Given the description of an element on the screen output the (x, y) to click on. 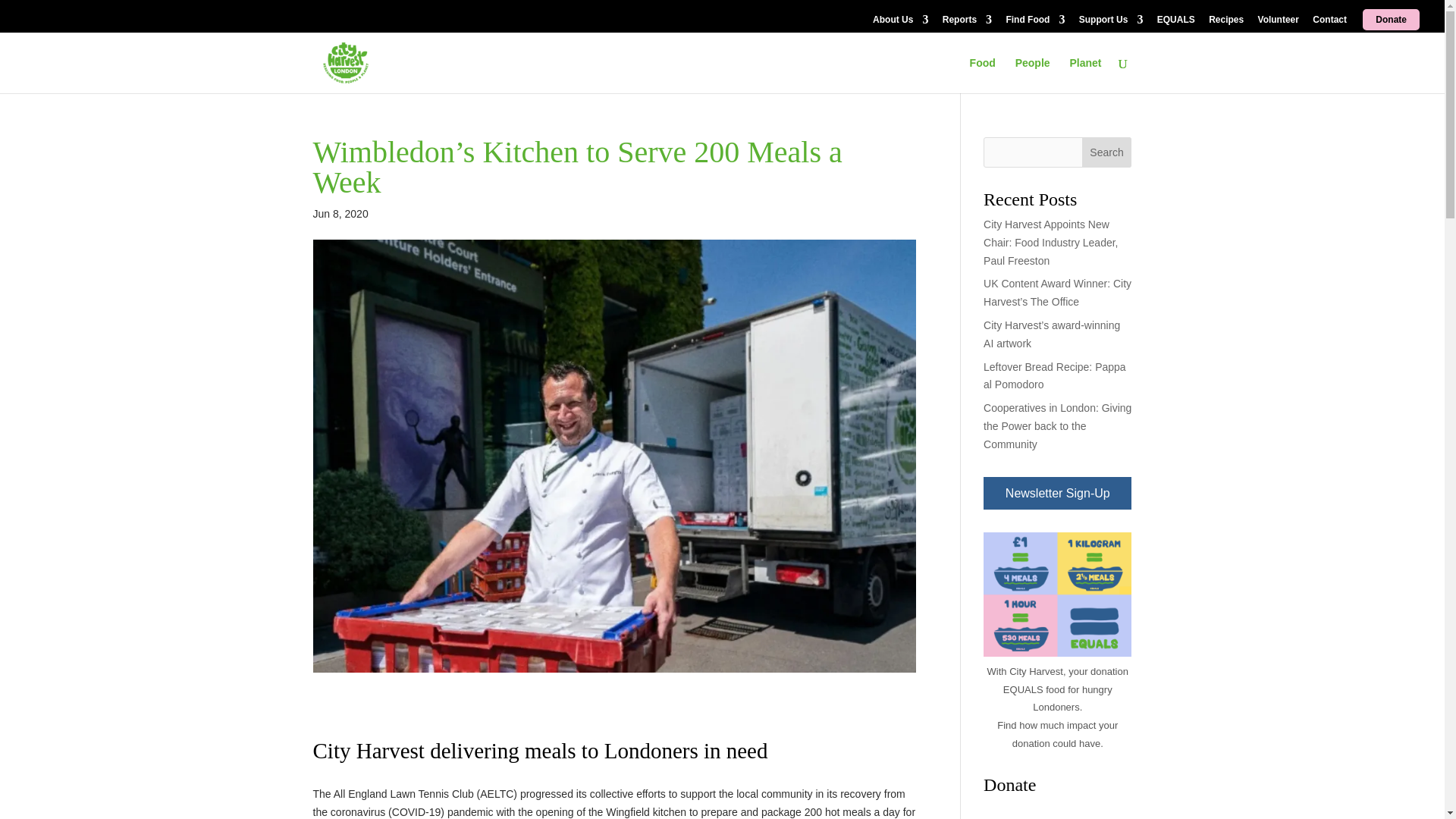
Recipes (1225, 23)
About Us (900, 23)
Support Us (1110, 23)
Find Food (1035, 23)
People (1031, 75)
Contact (1329, 23)
EQUALS (1176, 23)
Reports (966, 23)
Donate (1390, 19)
Volunteer (1277, 23)
Planet (1084, 75)
